Given the description of an element on the screen output the (x, y) to click on. 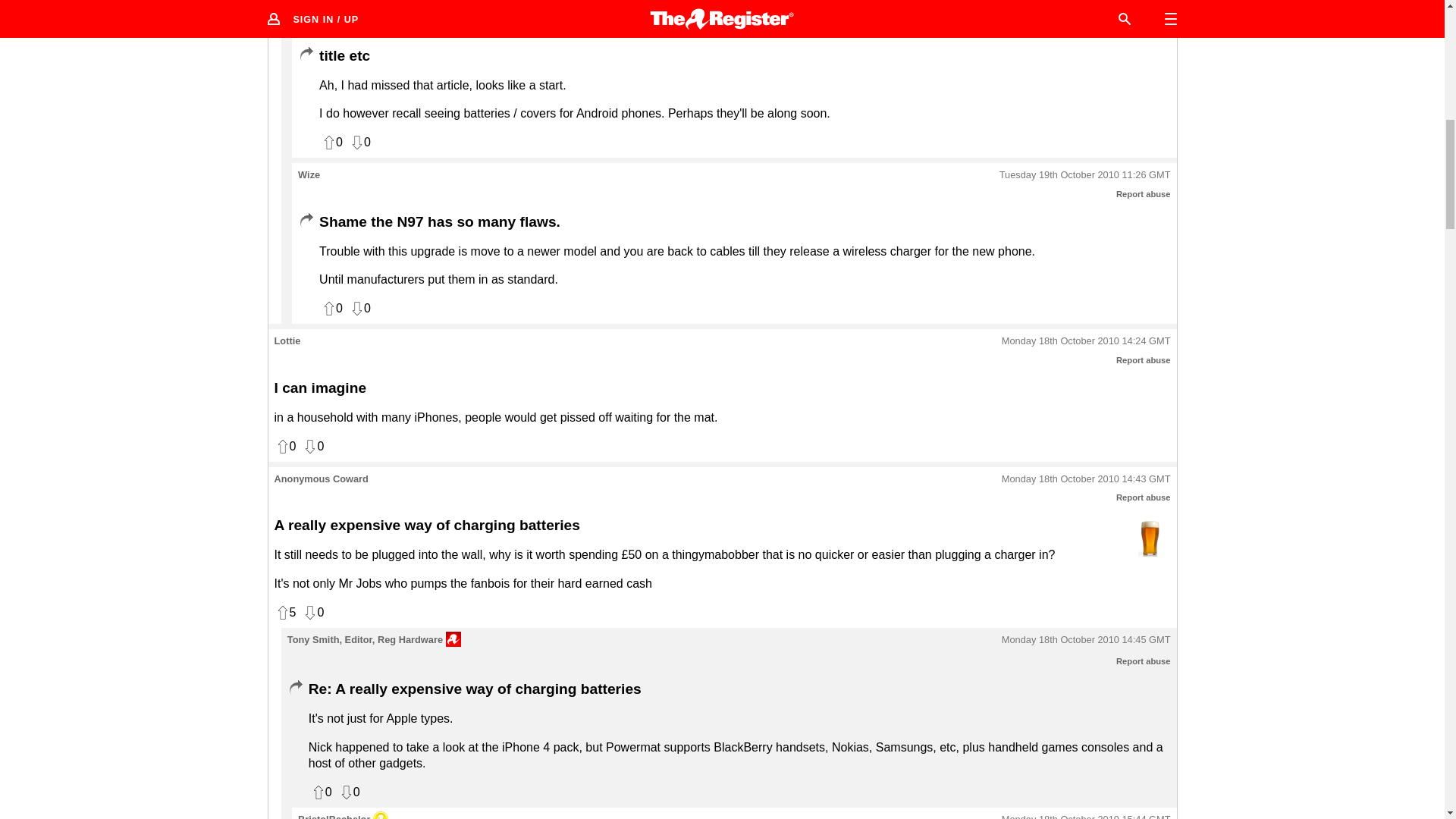
Report abuse (1143, 27)
Report abuse (1143, 359)
Report abuse (1143, 497)
Permalink to this post (1085, 9)
Report abuse (1143, 194)
Report abuse (1143, 660)
